Given the description of an element on the screen output the (x, y) to click on. 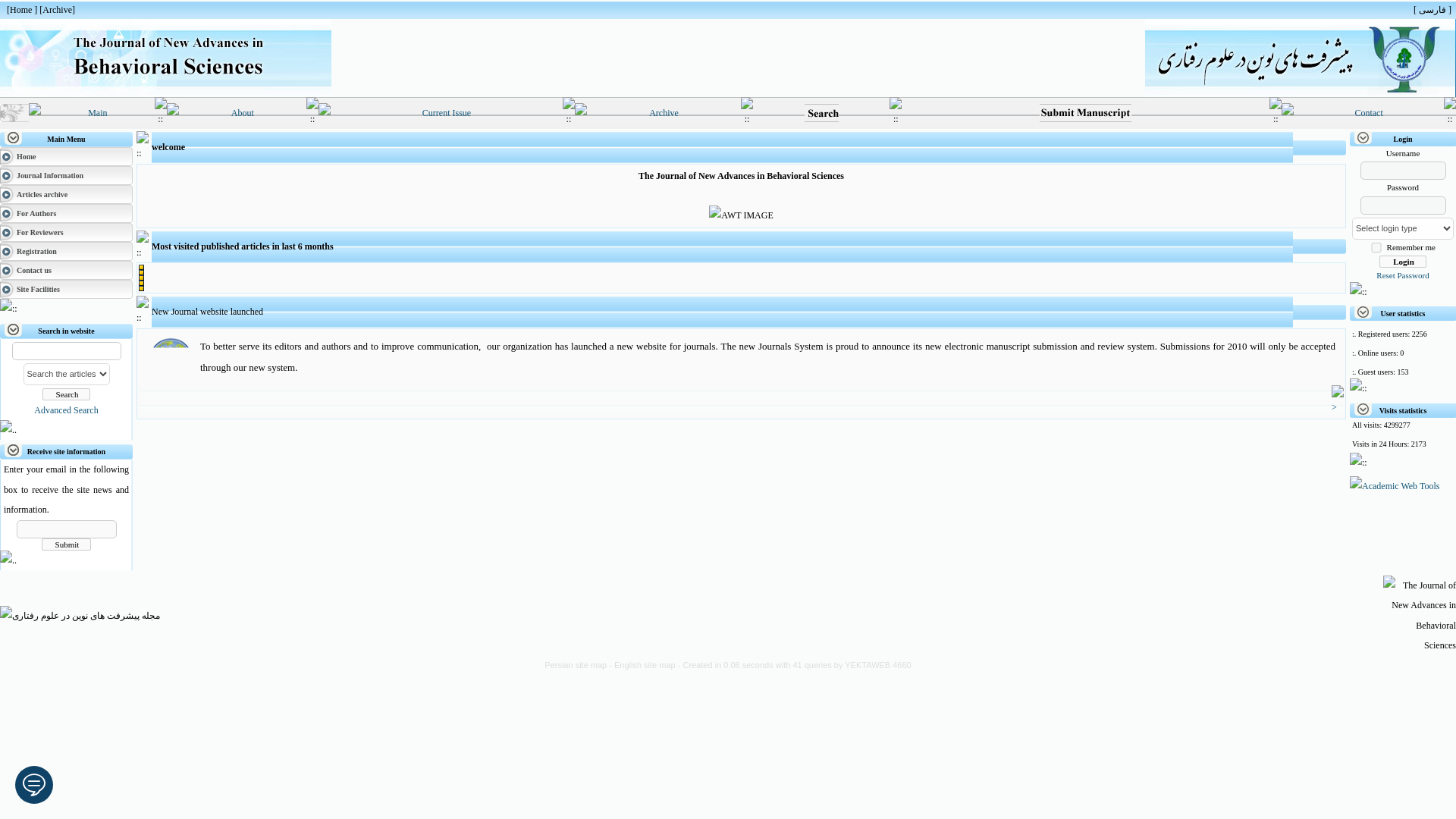
Submit (66, 544)
Home (26, 156)
on (1376, 247)
Articles archive (41, 194)
Change Site Language (1432, 9)
published articles (56, 9)
Archive (56, 9)
Registration (36, 251)
Search (66, 394)
For Authors (36, 213)
Contact us (33, 270)
Journal Information (49, 175)
For Reviewers (40, 232)
Home (21, 9)
Login (1402, 261)
